Given the description of an element on the screen output the (x, y) to click on. 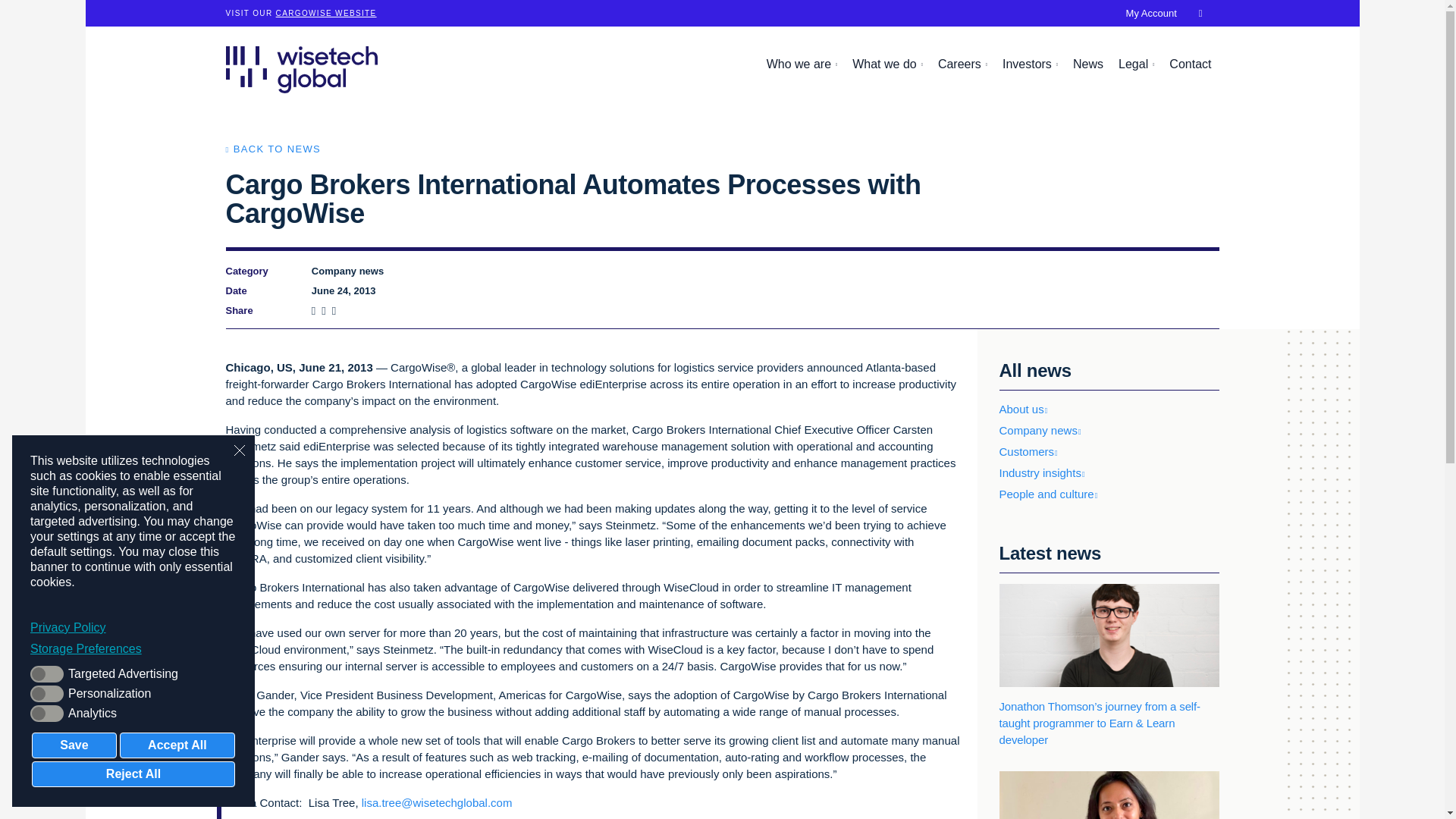
WiseTech Global (301, 69)
CARGOWISE WEBSITE (326, 13)
What we do (887, 64)
CargoWise (326, 13)
Investors (1029, 64)
Storage Preferences (132, 648)
Save (74, 745)
Reject All (133, 774)
Who we are (801, 64)
Accept All (176, 745)
Privacy Policy (132, 627)
